Given the description of an element on the screen output the (x, y) to click on. 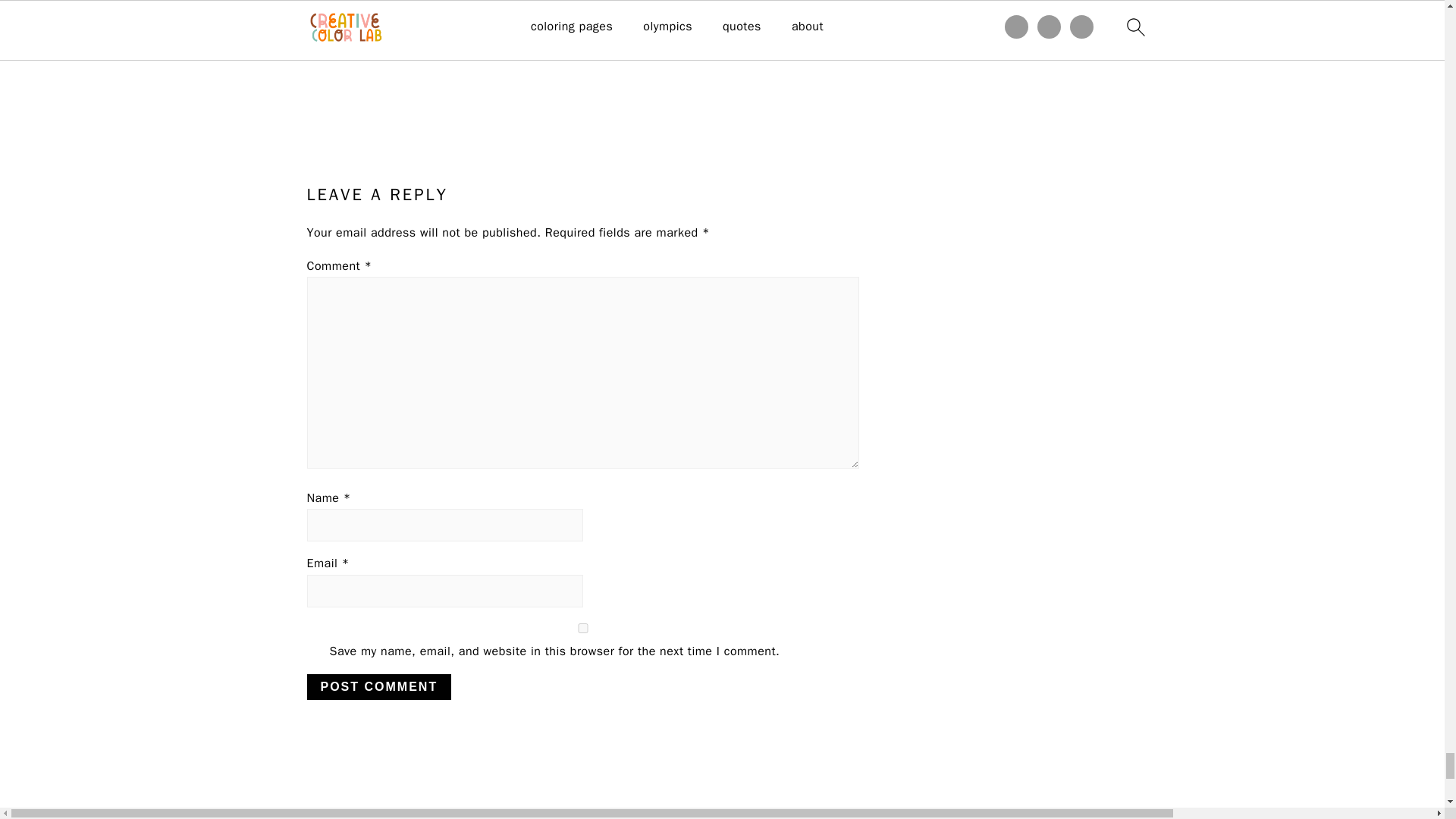
yes (582, 628)
Post Comment (378, 687)
